Given the description of an element on the screen output the (x, y) to click on. 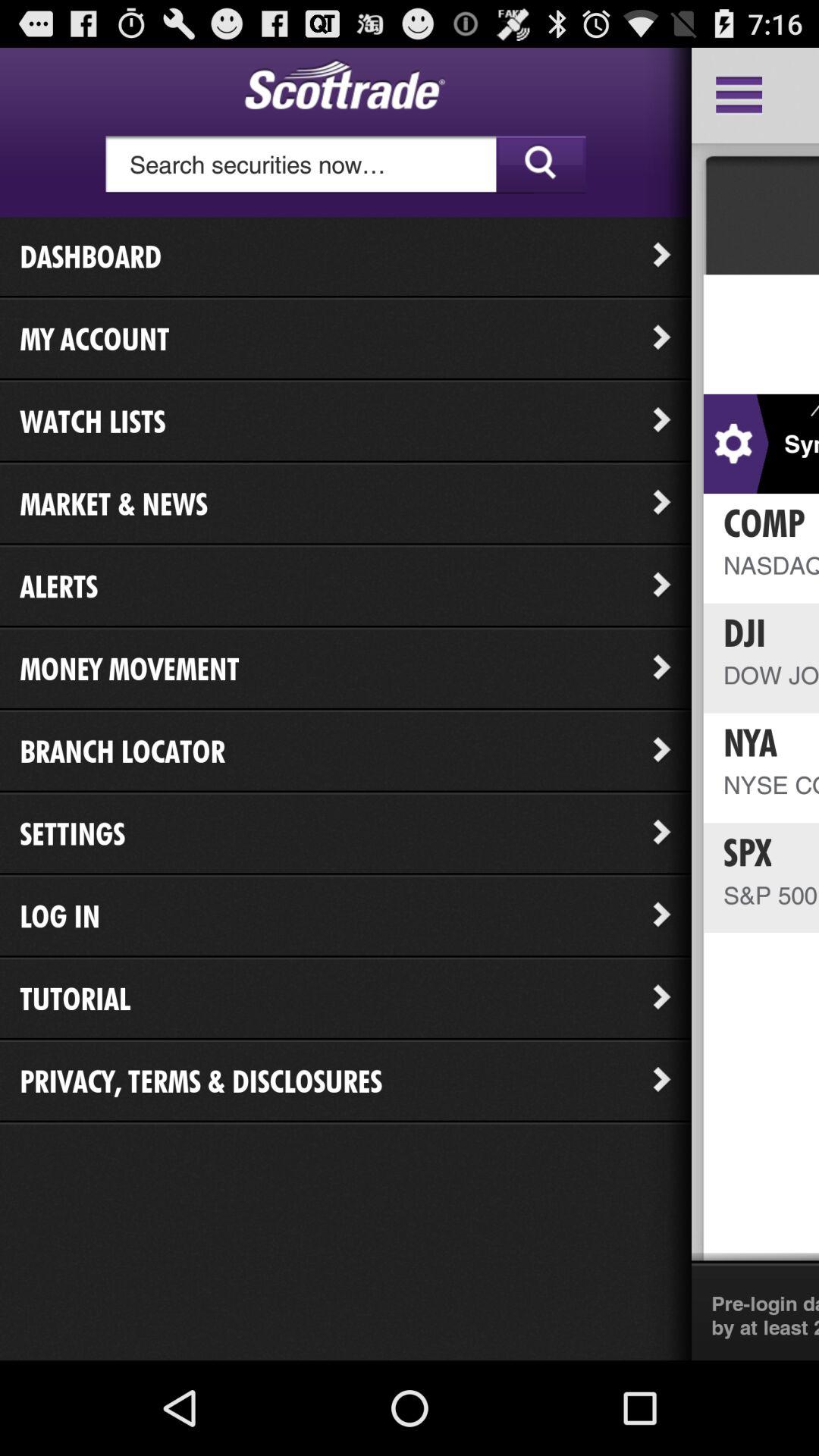
there is an option to search the security (345, 164)
